Given the description of an element on the screen output the (x, y) to click on. 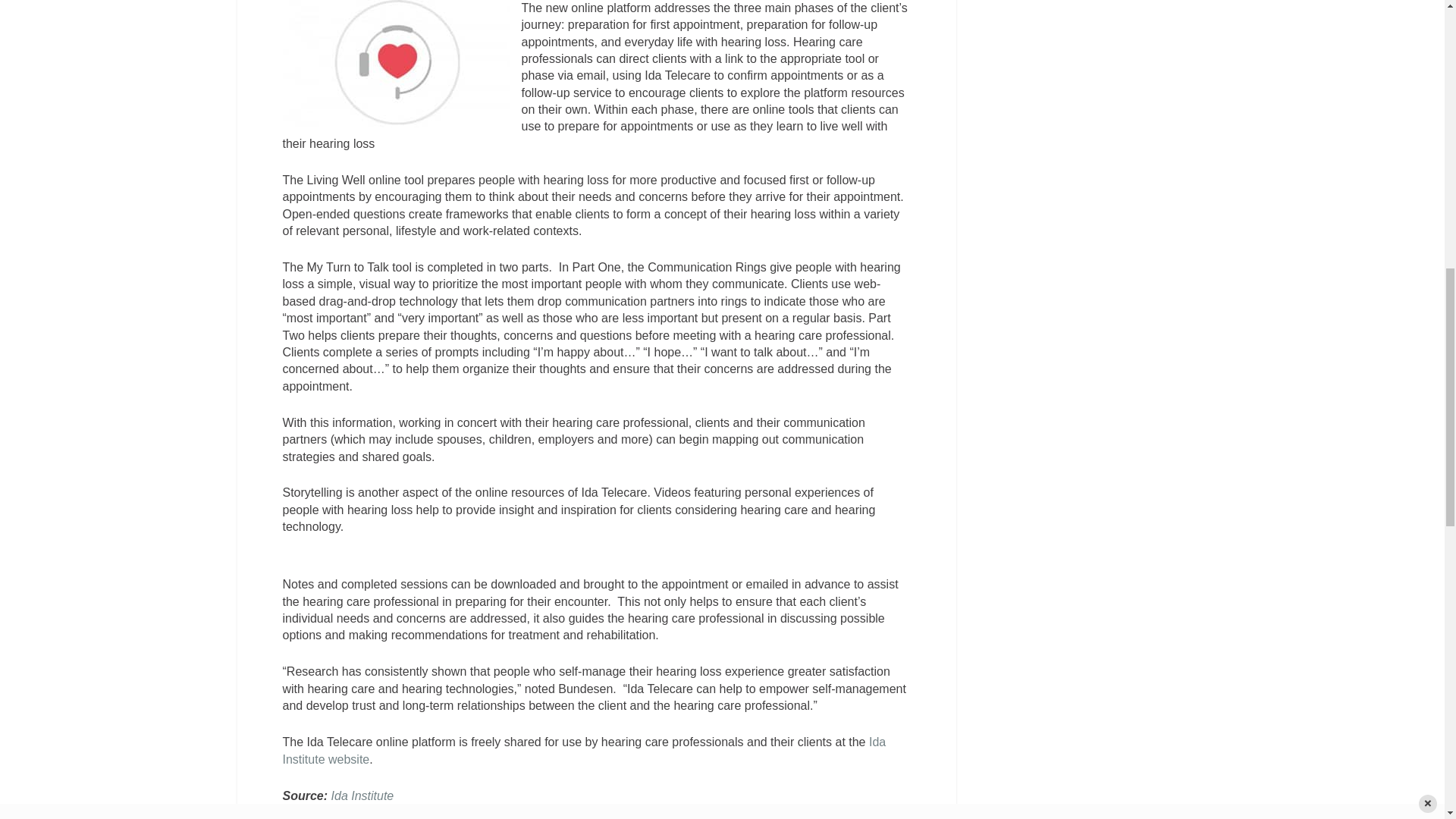
Ida Institute news release (362, 795)
Ida Telecare (583, 749)
